Given the description of an element on the screen output the (x, y) to click on. 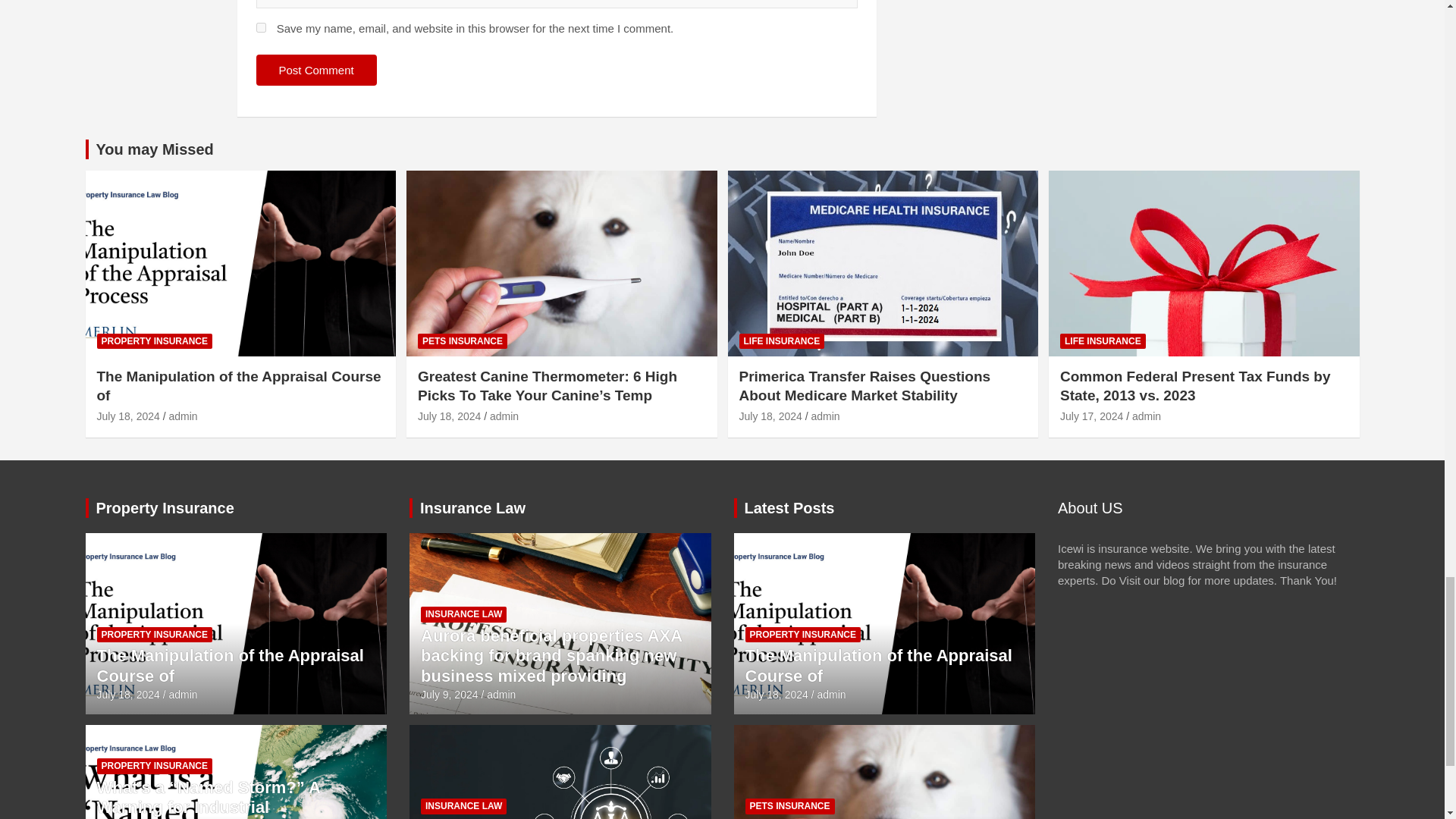
yes (261, 27)
Common Federal Present Tax Funds by State, 2013 vs. 2023 (1090, 416)
The Manipulation of the Appraisal Course of (128, 416)
Post Comment (316, 69)
Post Comment (316, 69)
The Manipulation of the Appraisal Course of (128, 694)
